Given the description of an element on the screen output the (x, y) to click on. 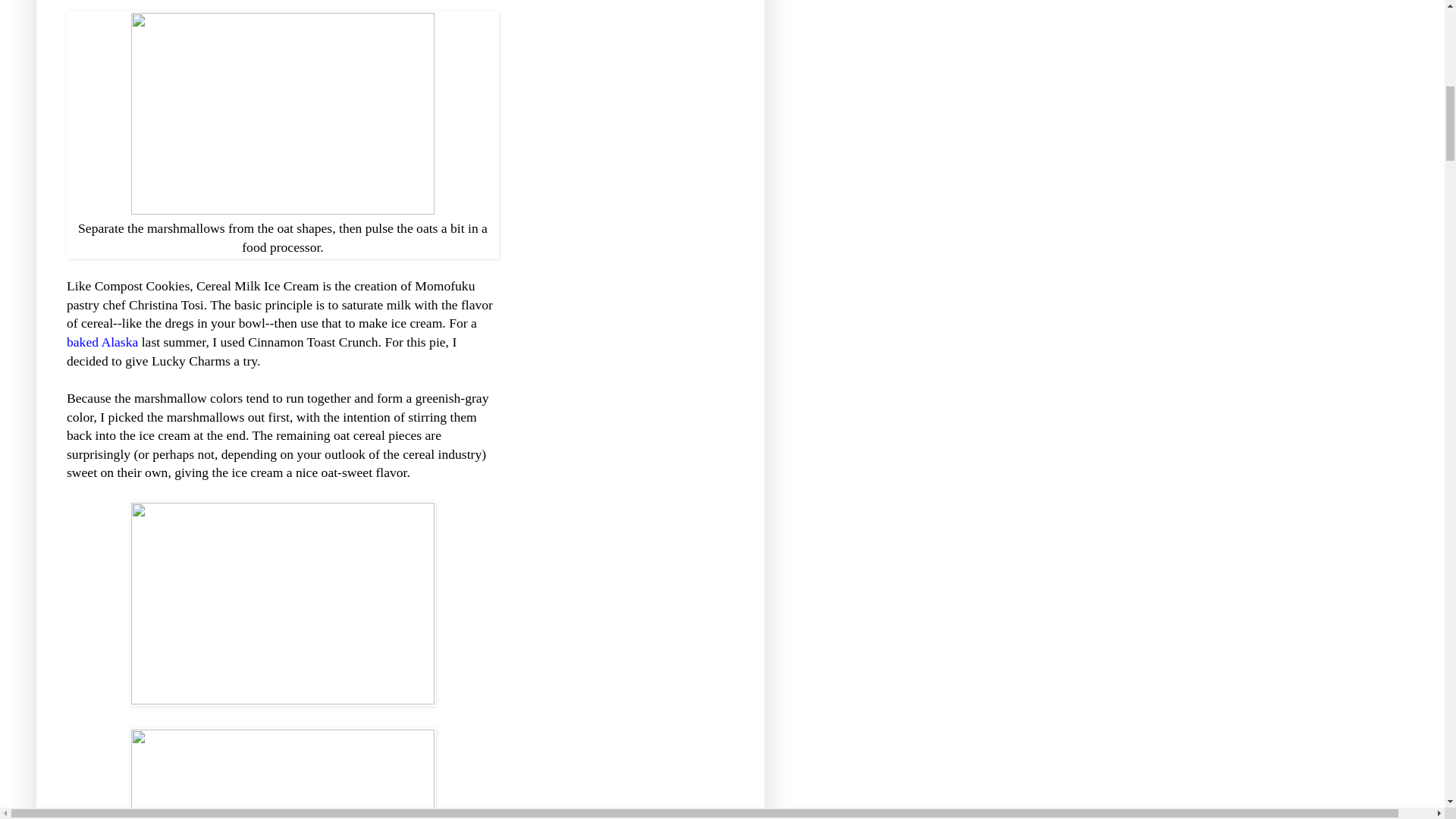
baked Alaska (102, 341)
